Given the description of an element on the screen output the (x, y) to click on. 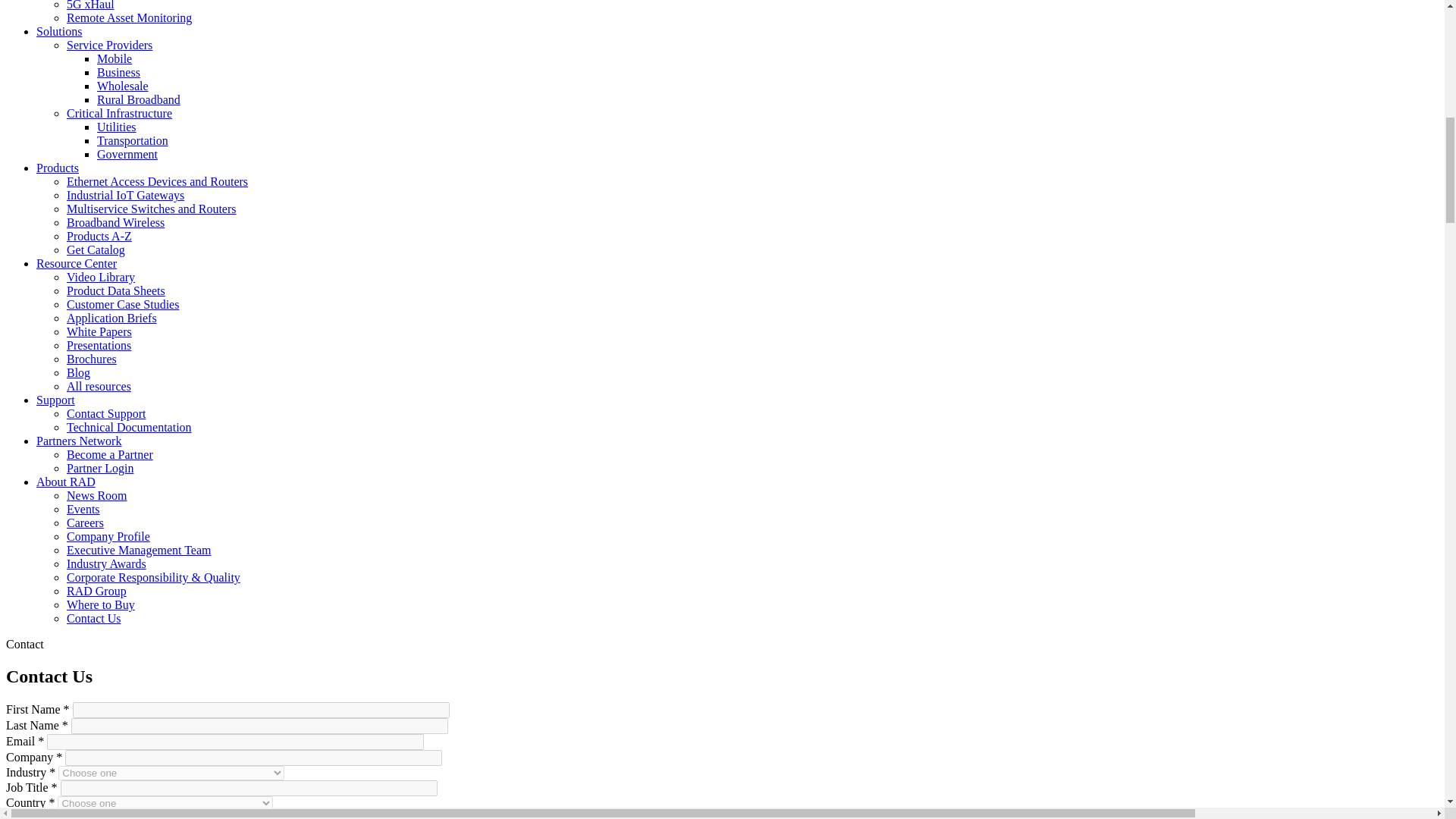
First Name (260, 709)
This field is required. (59, 757)
This field is required. (40, 740)
This field is required. (66, 708)
Phone Number (269, 814)
Last Name (259, 725)
Company (253, 757)
Job Title (249, 788)
This field is required. (54, 787)
This field is required. (52, 771)
This field is required. (51, 802)
This field is required. (65, 725)
